Given the description of an element on the screen output the (x, y) to click on. 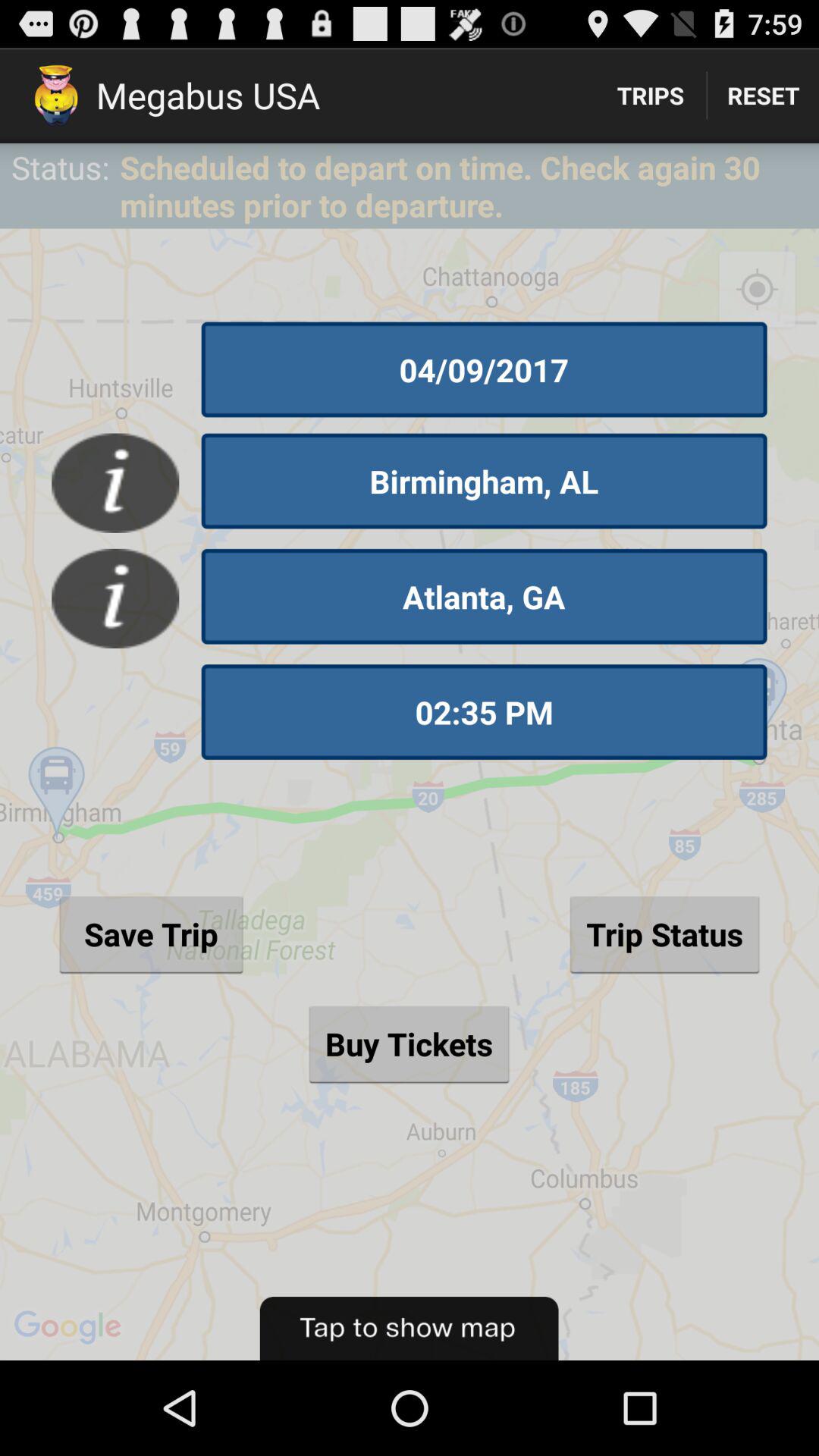
tap the item below status: (409, 794)
